Given the description of an element on the screen output the (x, y) to click on. 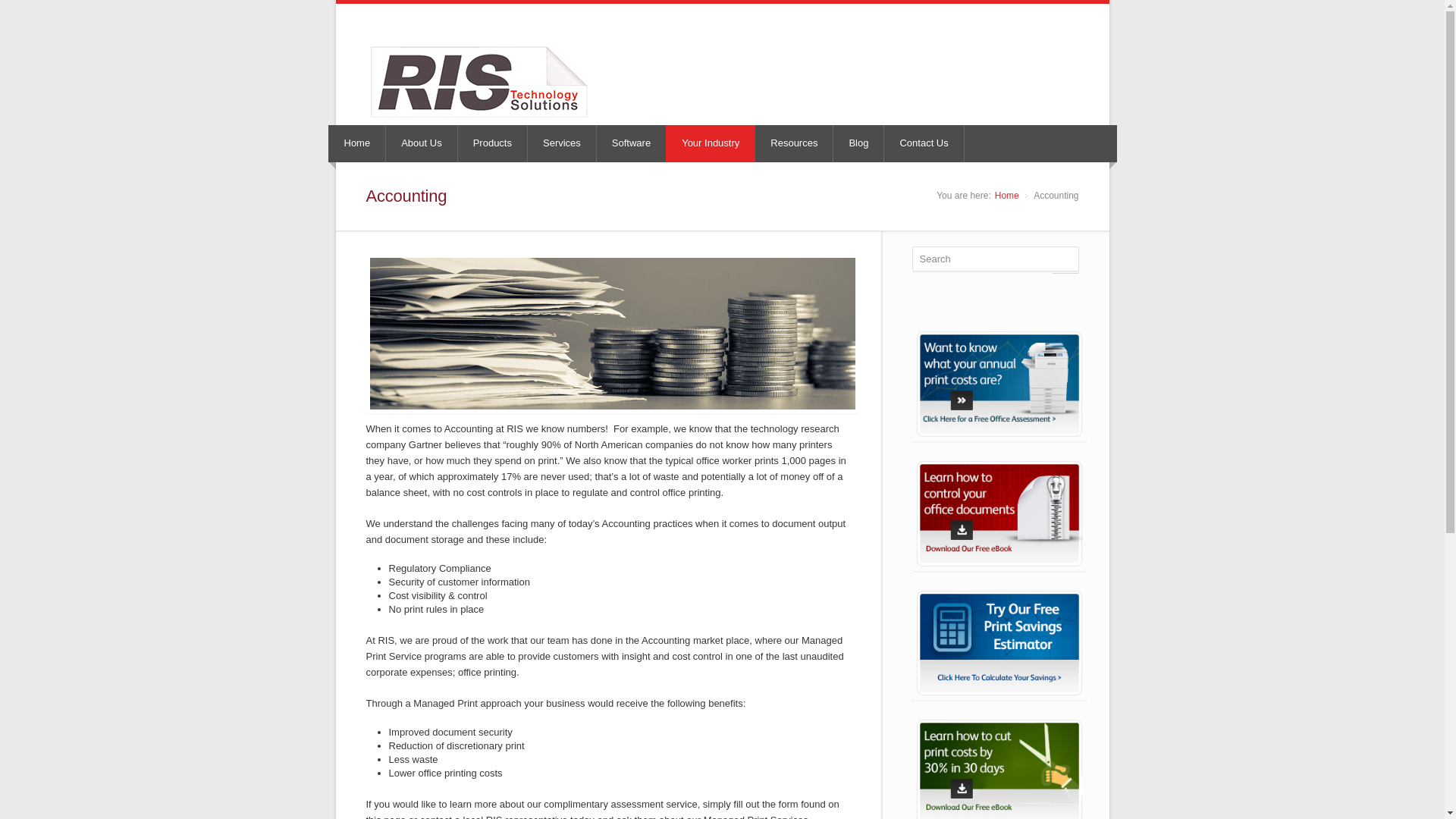
Services (561, 143)
Search (994, 258)
Products (492, 143)
Software (631, 143)
About Us (421, 143)
Your Industry (710, 143)
Search (994, 258)
Home (358, 143)
